Given the description of an element on the screen output the (x, y) to click on. 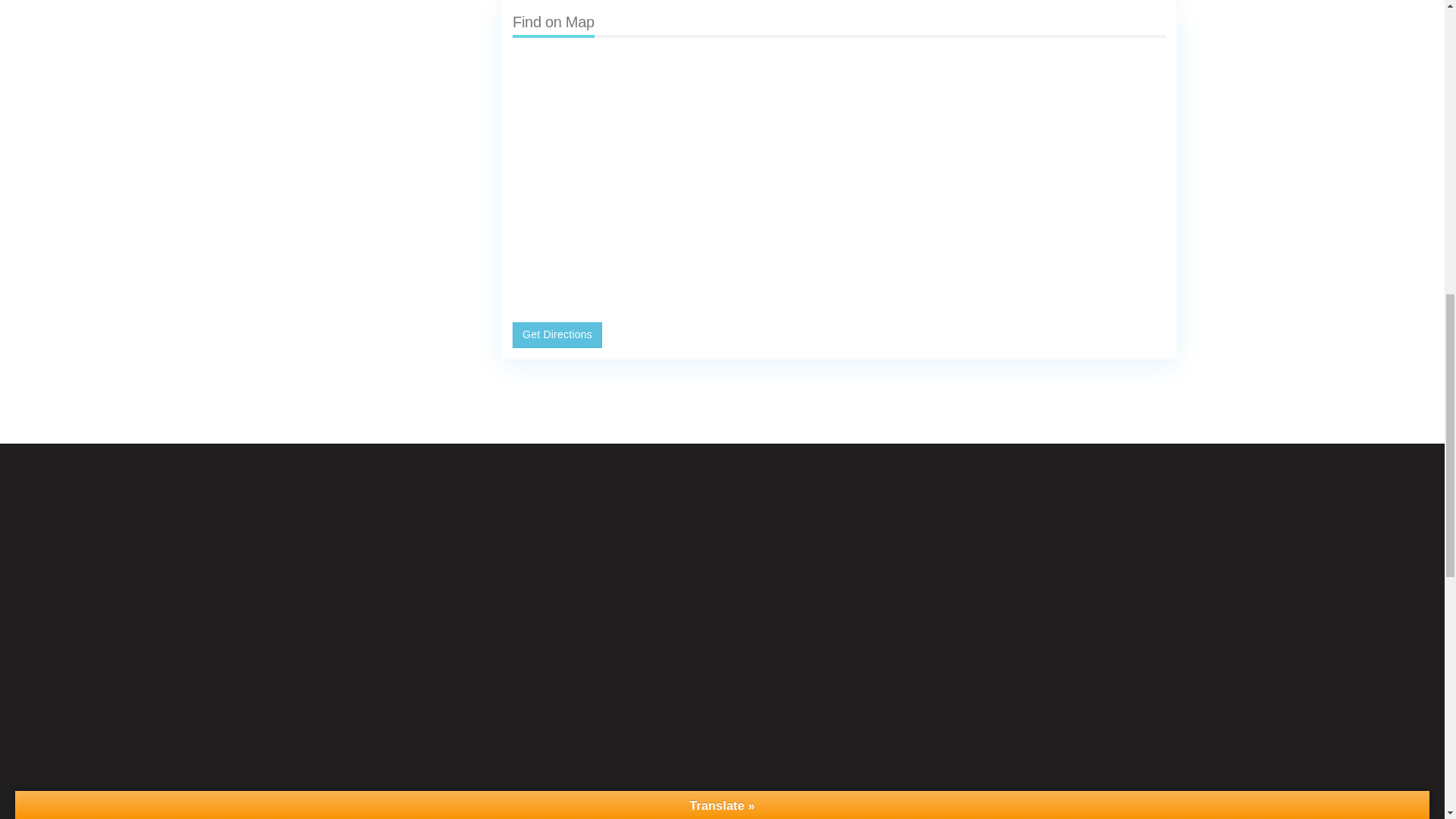
Get Directions (557, 335)
